Given the description of an element on the screen output the (x, y) to click on. 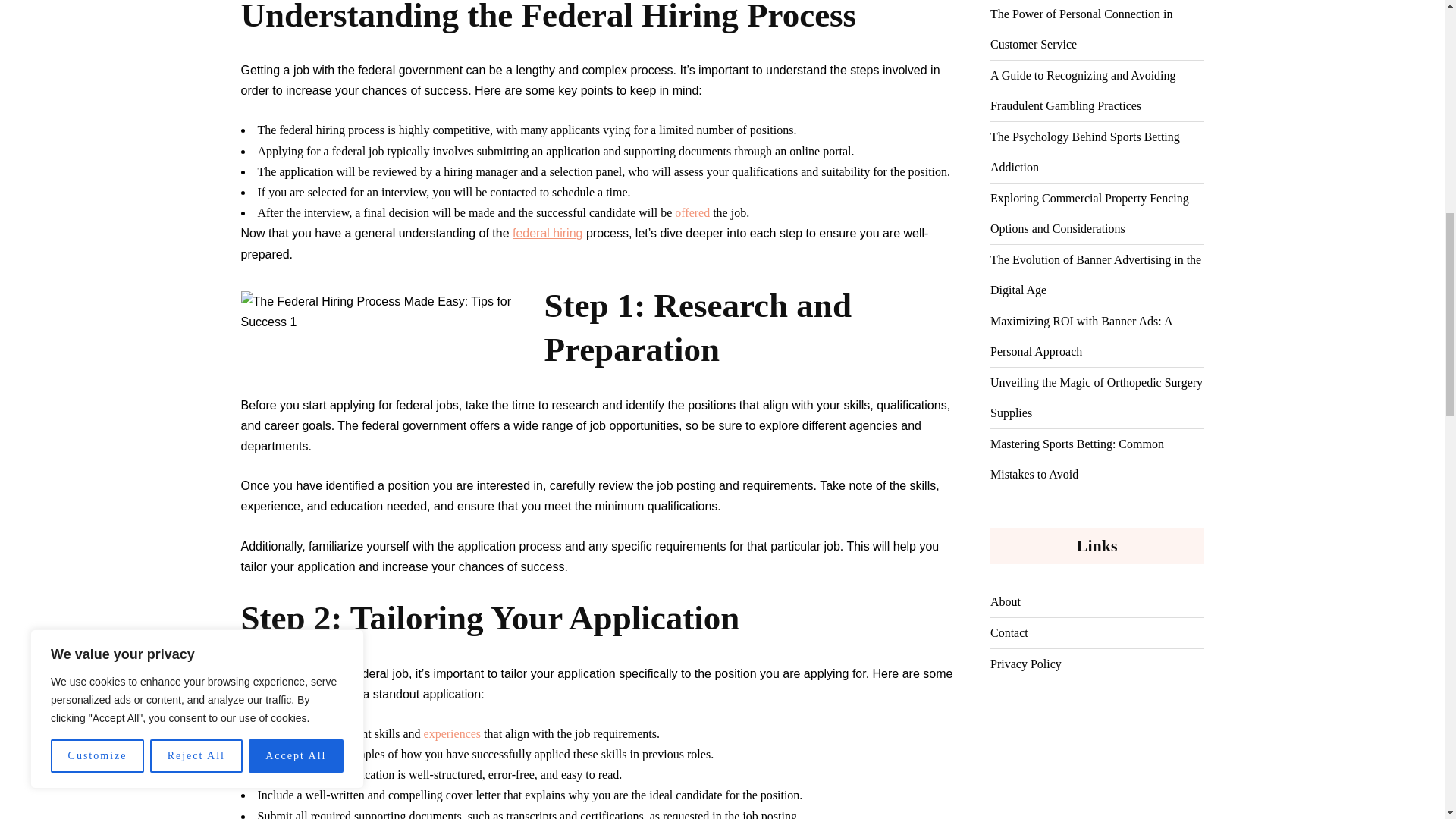
federal hiring (547, 232)
experiences (452, 733)
offered (692, 212)
